Given the description of an element on the screen output the (x, y) to click on. 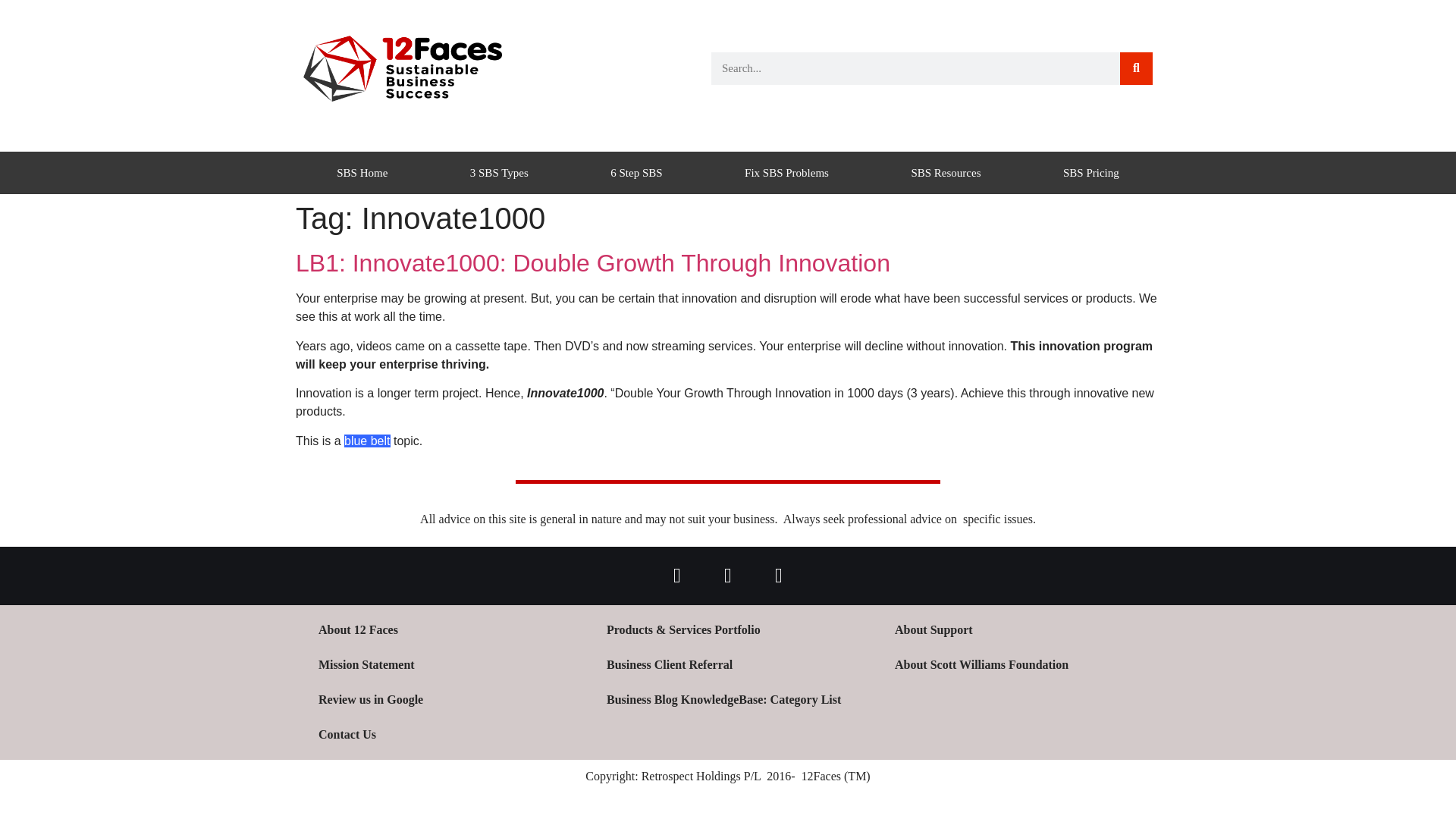
3 SBS Types (499, 172)
SBS Resources (945, 172)
SBS Home (362, 172)
Fix SBS Problems (786, 172)
SBS Pricing (1091, 172)
6 Step SBS (636, 172)
